Given the description of an element on the screen output the (x, y) to click on. 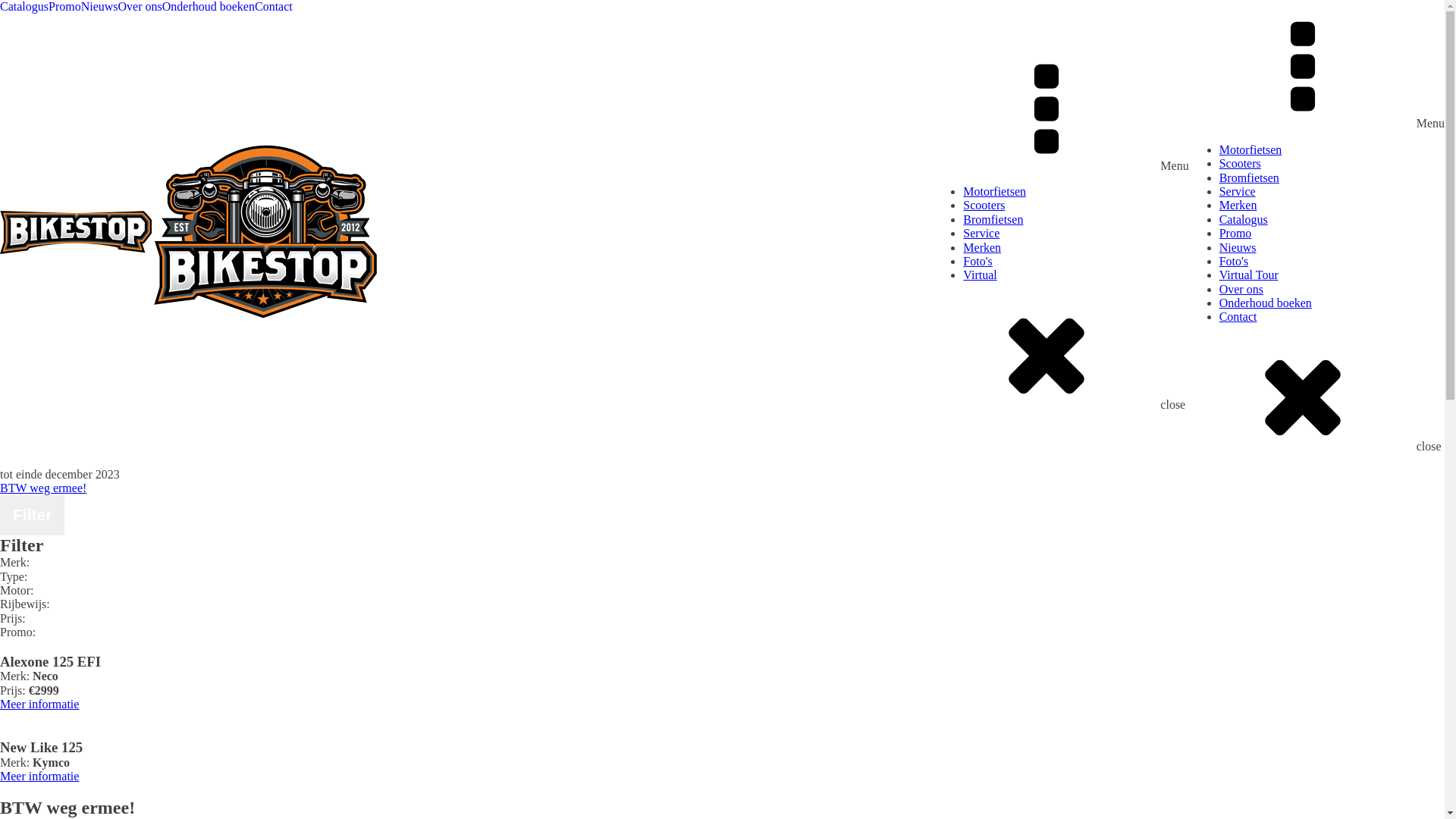
Scooters Element type: text (1075, 205)
Contact Element type: text (273, 6)
Onderhoud boeken Element type: text (1331, 303)
Meer informatie Element type: text (39, 703)
Scooters Element type: text (1331, 163)
Onderhoud boeken Element type: text (208, 6)
Catalogus Element type: text (1331, 219)
Bromfietsen Element type: text (1331, 178)
Motorfietsen Element type: text (1331, 149)
Service Element type: text (1075, 233)
Nieuws Element type: text (99, 6)
Bromfietsen Element type: text (1075, 219)
Meer informatie Element type: text (39, 775)
Foto's Element type: text (1075, 261)
Over ons Element type: text (140, 6)
Filter Element type: text (32, 514)
Promo Element type: text (64, 6)
Catalogus Element type: text (24, 6)
Virtual Element type: text (1075, 275)
Nieuws Element type: text (1331, 247)
Over ons Element type: text (1331, 289)
Merken Element type: text (1331, 205)
BTW weg ermee! Element type: text (43, 487)
Promo Element type: text (1331, 233)
Virtual Tour Element type: text (1331, 275)
Service Element type: text (1331, 191)
Merken Element type: text (1075, 247)
Motorfietsen Element type: text (1075, 191)
Foto's Element type: text (1331, 261)
Contact Element type: text (1331, 316)
